Given the description of an element on the screen output the (x, y) to click on. 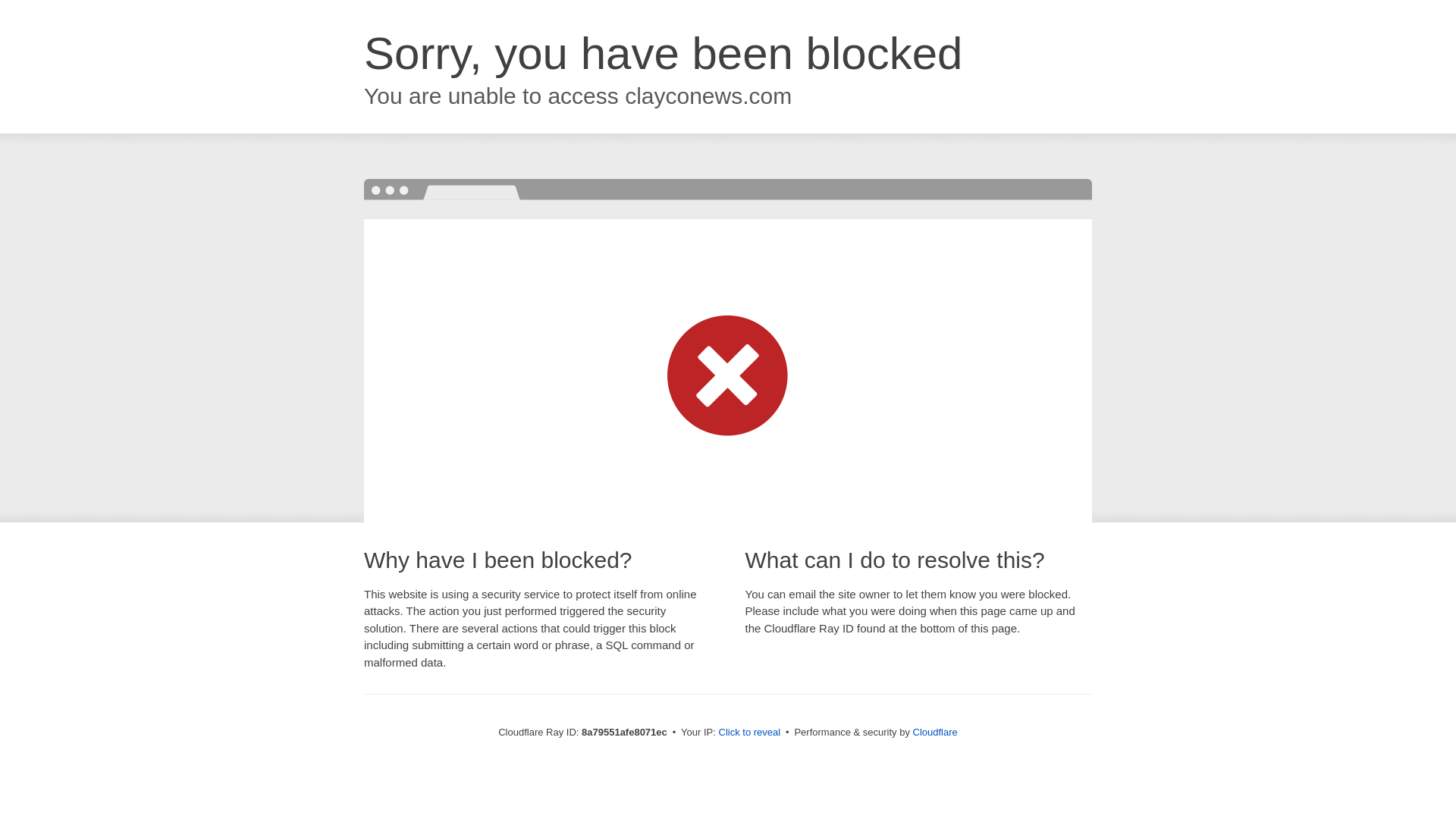
Cloudflare (935, 731)
Click to reveal (749, 732)
